Given the description of an element on the screen output the (x, y) to click on. 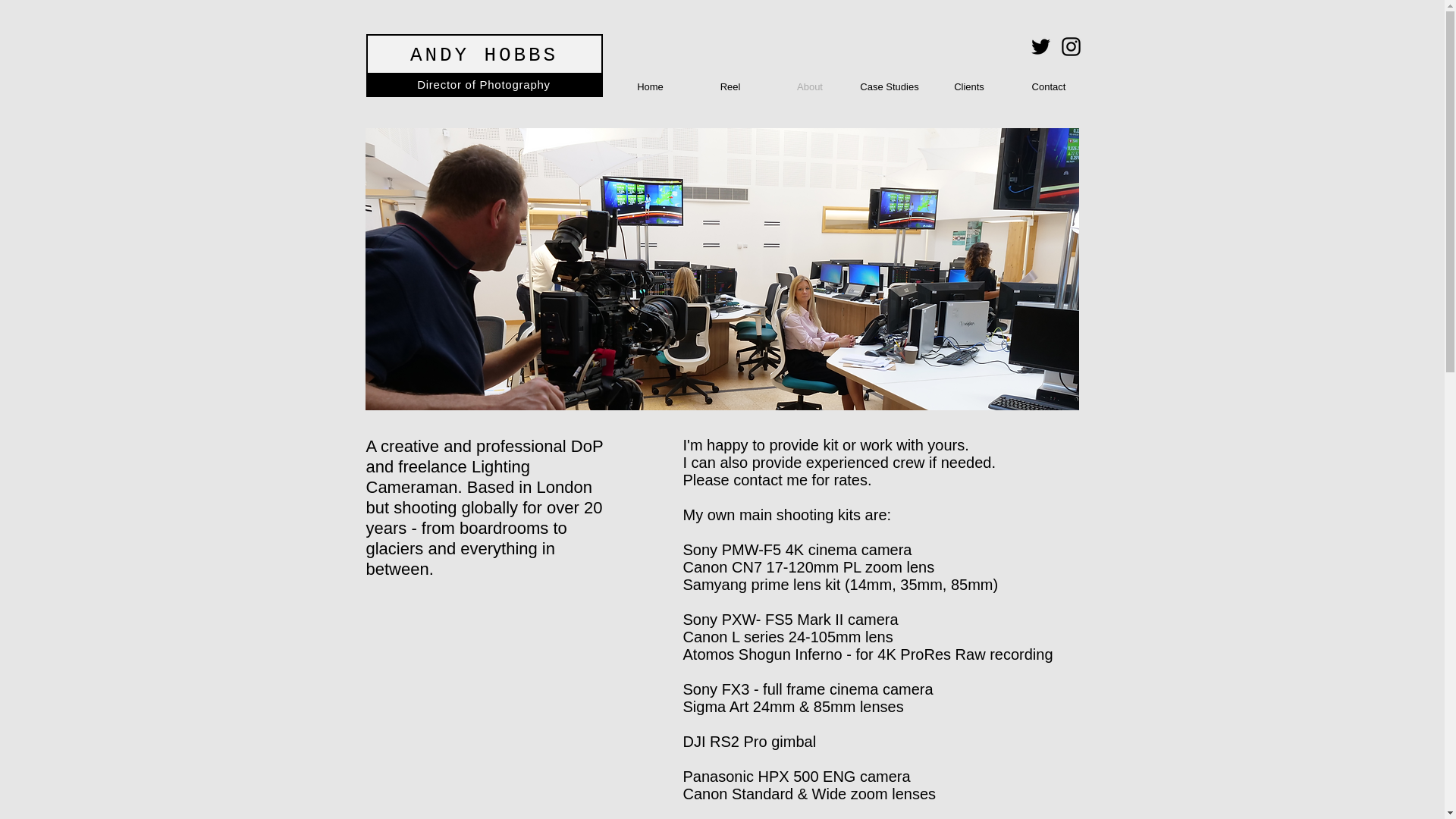
Clients (969, 86)
Contact (1048, 86)
Reel (730, 86)
Home (650, 86)
ANDY HOBBS (483, 55)
About (810, 86)
